Given the description of an element on the screen output the (x, y) to click on. 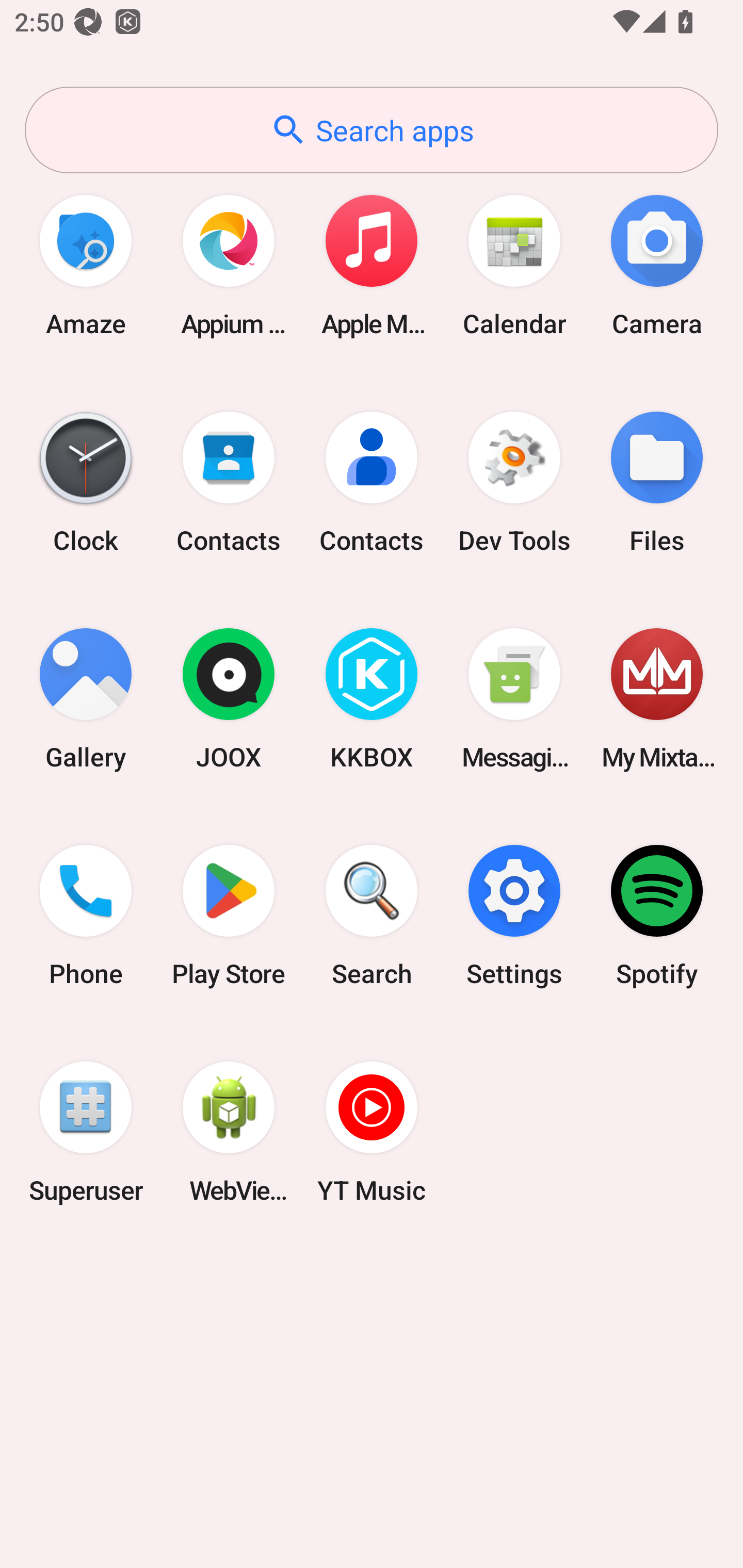
  Search apps (371, 130)
Amaze (85, 264)
Appium Settings (228, 264)
Apple Music (371, 264)
Calendar (514, 264)
Camera (656, 264)
Clock (85, 482)
Contacts (228, 482)
Contacts (371, 482)
Dev Tools (514, 482)
Files (656, 482)
Gallery (85, 699)
JOOX (228, 699)
KKBOX (371, 699)
Messaging (514, 699)
My Mixtapez (656, 699)
Phone (85, 915)
Play Store (228, 915)
Search (371, 915)
Settings (514, 915)
Spotify (656, 915)
Superuser (85, 1131)
WebView Browser Tester (228, 1131)
YT Music (371, 1131)
